Given the description of an element on the screen output the (x, y) to click on. 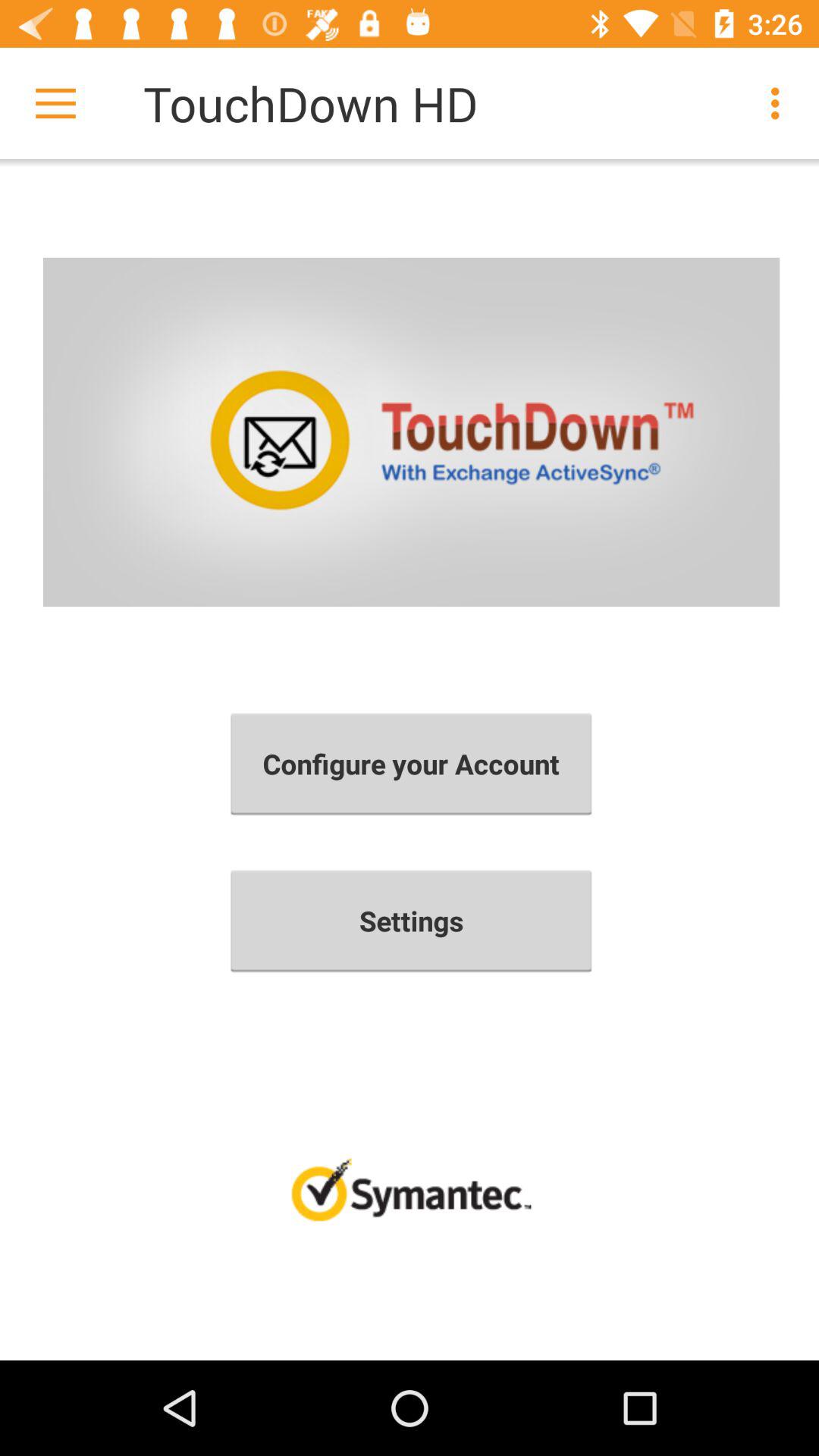
click the item to the left of touchdown hd (55, 103)
